Given the description of an element on the screen output the (x, y) to click on. 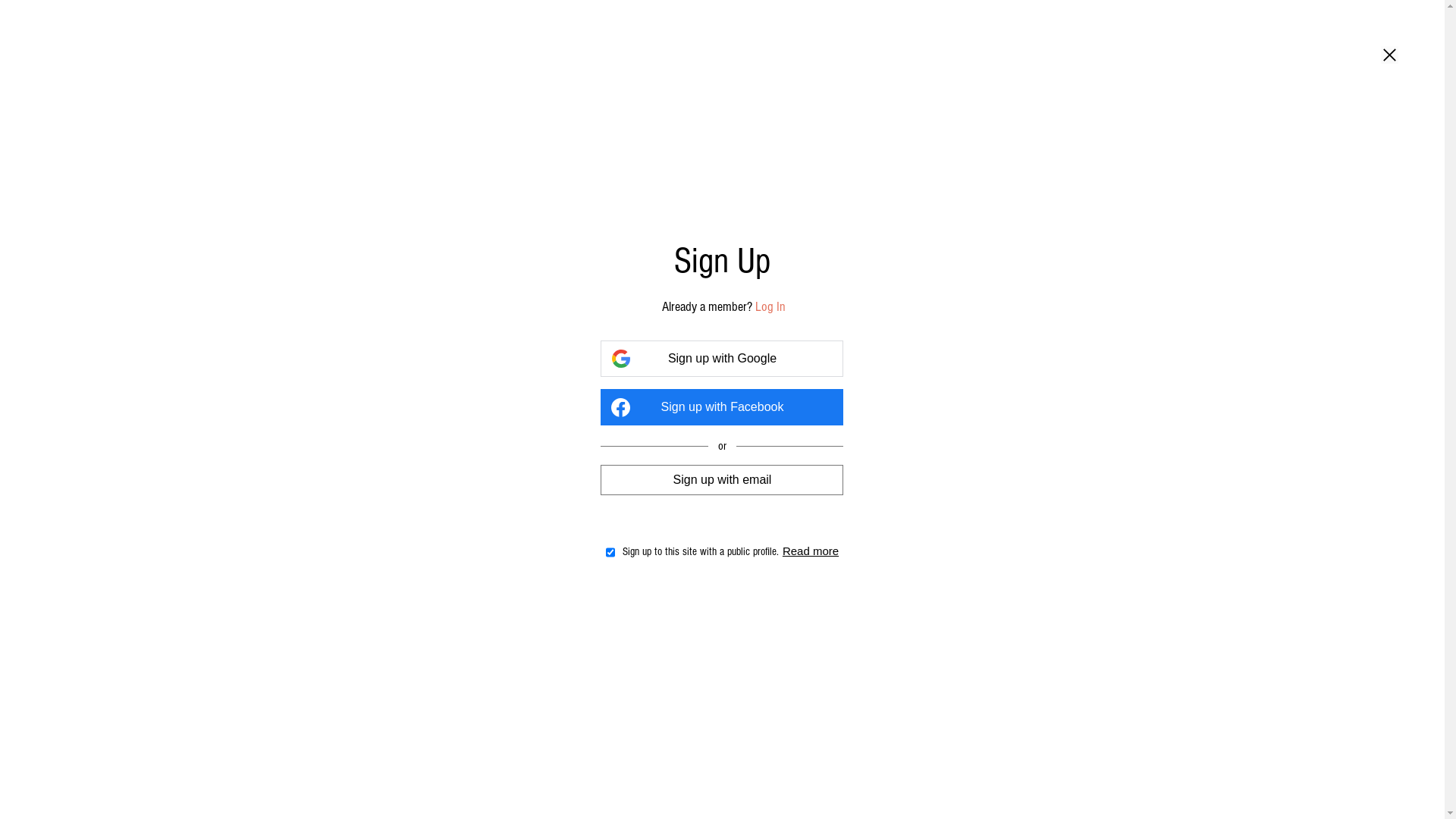
Sign up with Google Element type: text (721, 358)
Read more Element type: text (830, 551)
Sign up with email Element type: text (721, 479)
Sign up with Facebook Element type: text (721, 407)
Log In Element type: text (784, 306)
